Given the description of an element on the screen output the (x, y) to click on. 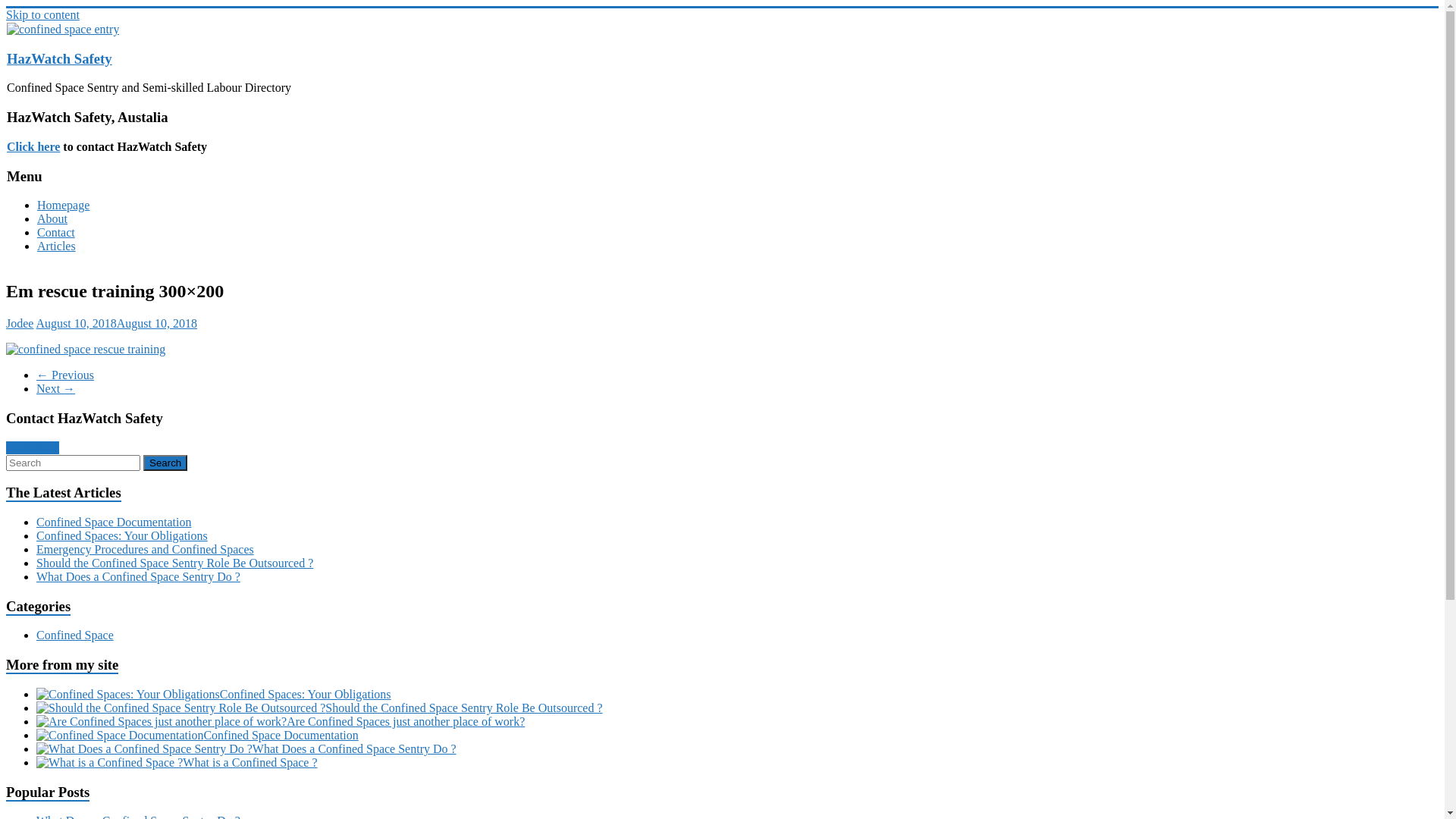
HazWatch Safety Element type: text (59, 58)
Contact Element type: text (56, 231)
Confined Space Element type: text (74, 634)
Skip to content Element type: text (42, 14)
What Does a Confined Space Sentry Do ? Element type: text (138, 576)
Click Here Element type: text (32, 447)
Articles Element type: text (56, 245)
Confined Spaces: Your Obligations Element type: text (121, 535)
Are Confined Spaces just another place of work? Element type: text (405, 721)
Should the Confined Space Sentry Role Be Outsourced ? Element type: text (463, 707)
Search Element type: text (165, 462)
Emergency Procedures and Confined Spaces Element type: text (145, 548)
Confined Space Documentation Element type: text (113, 521)
Confined Space Documentation Element type: text (280, 734)
What is a Confined Space ? Element type: text (249, 762)
What Does a Confined Space Sentry Do ? Element type: text (354, 748)
August 10, 2018August 10, 2018 Element type: text (116, 322)
About Element type: text (52, 218)
Confined Spaces: Your Obligations Element type: text (305, 693)
Should the Confined Space Sentry Role Be Outsourced ? Element type: text (174, 562)
Jodee Element type: text (19, 322)
Homepage Element type: text (63, 204)
Click here Element type: text (32, 146)
